Given the description of an element on the screen output the (x, y) to click on. 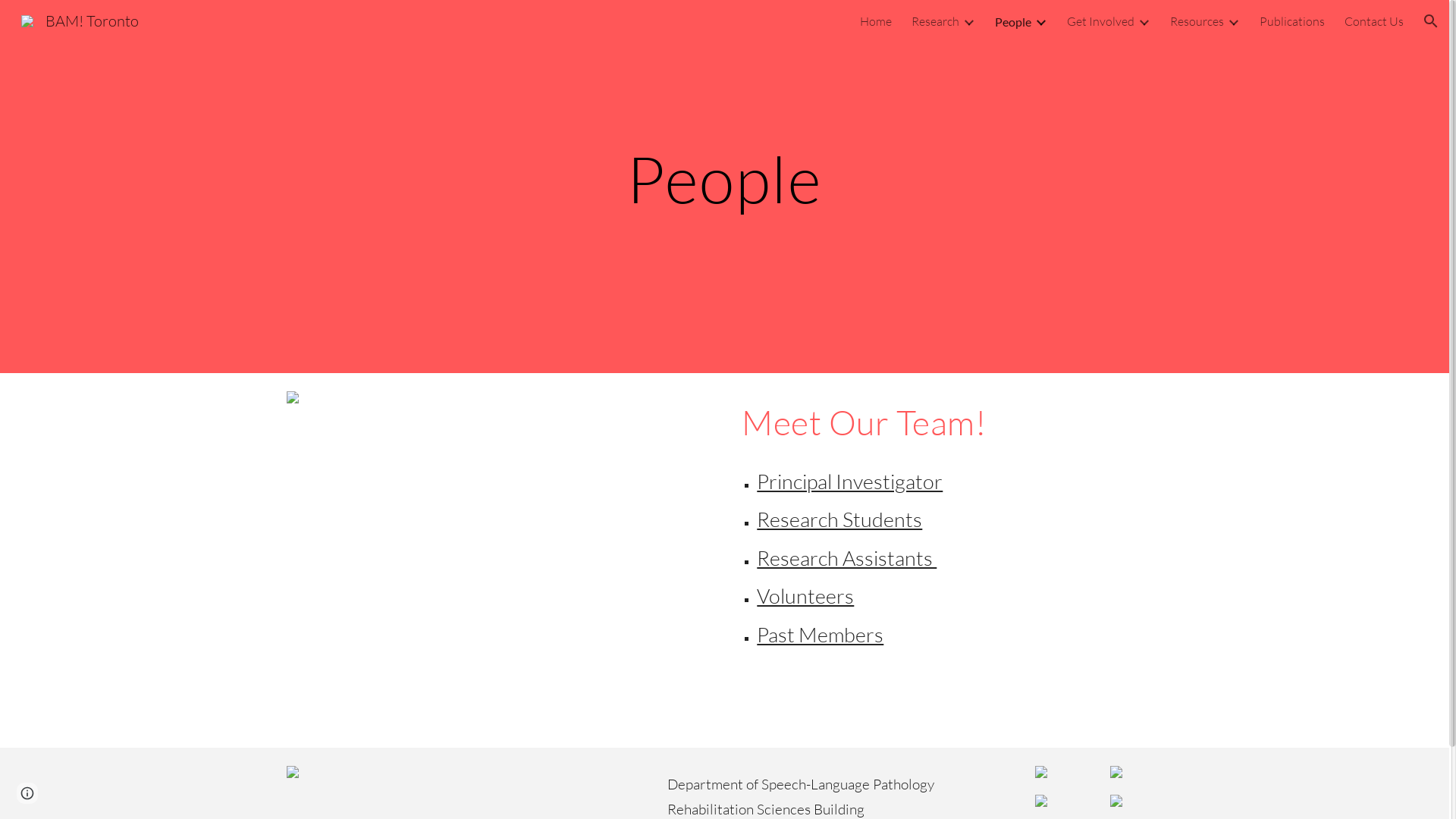
Research Students Element type: text (839, 518)
Volunteers Element type: text (804, 595)
Contact Us Element type: text (1373, 20)
Research Element type: text (935, 20)
People Element type: text (1012, 20)
Expand/Collapse Element type: hover (1232, 20)
Resources Element type: text (1196, 20)
Home Element type: text (875, 20)
Get Involved Element type: text (1100, 20)
Principal Investigator Element type: text (849, 480)
BAM! Toronto Element type: text (79, 18)
Past Members Element type: text (819, 633)
Expand/Collapse Element type: hover (1040, 20)
Expand/Collapse Element type: hover (1143, 20)
Publications Element type: text (1291, 20)
Expand/Collapse Element type: hover (968, 20)
Research Assistants  Element type: text (846, 557)
